Given the description of an element on the screen output the (x, y) to click on. 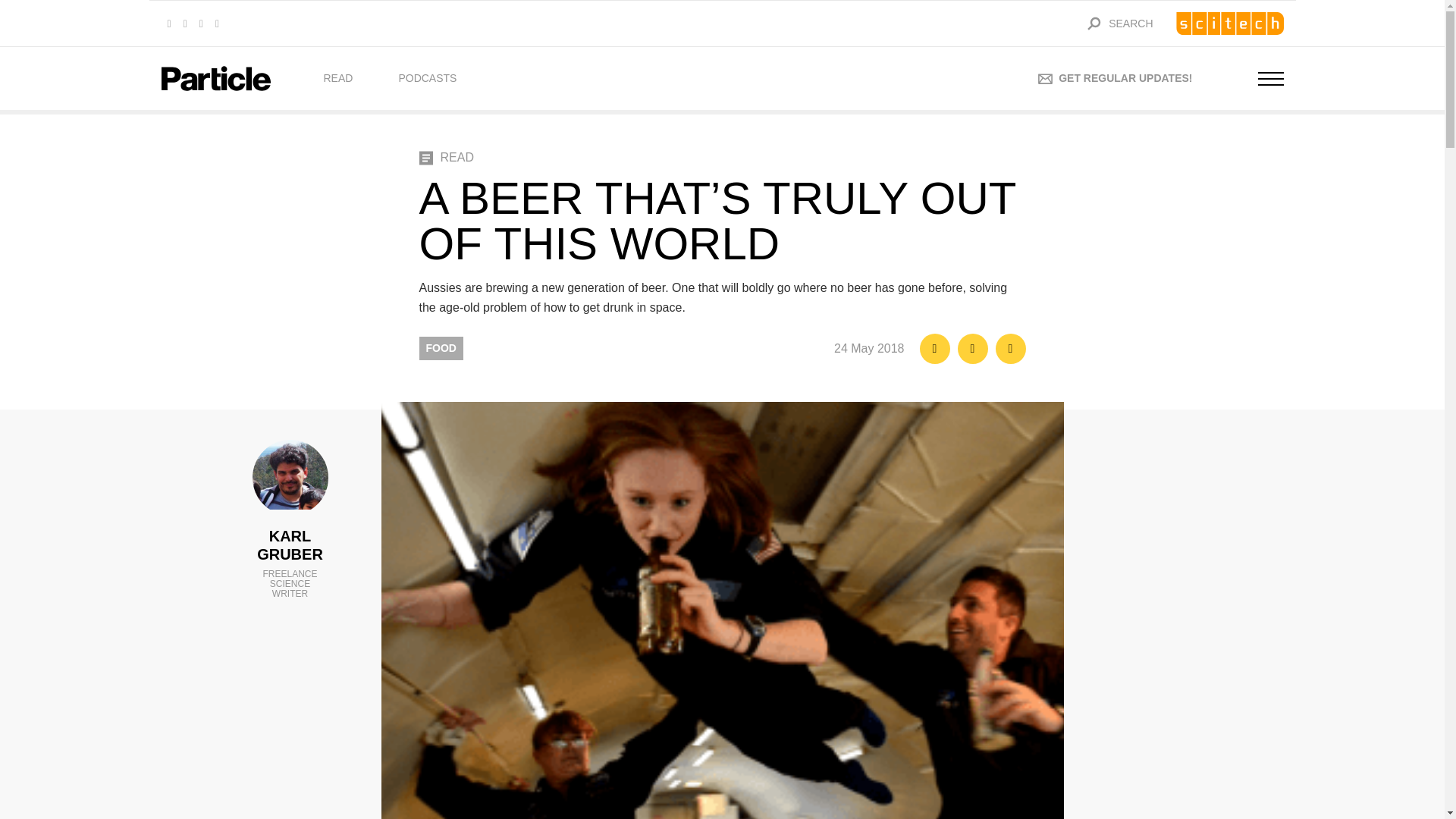
Particle Home (214, 78)
SEARCH (1096, 22)
Visit scitech.org.au (1228, 23)
PODCASTS (427, 78)
Search (1093, 23)
FOOD (441, 348)
Open search form (1096, 22)
Share via Email (1009, 348)
READ (337, 78)
GET REGULAR UPDATES! (1114, 78)
